Given the description of an element on the screen output the (x, y) to click on. 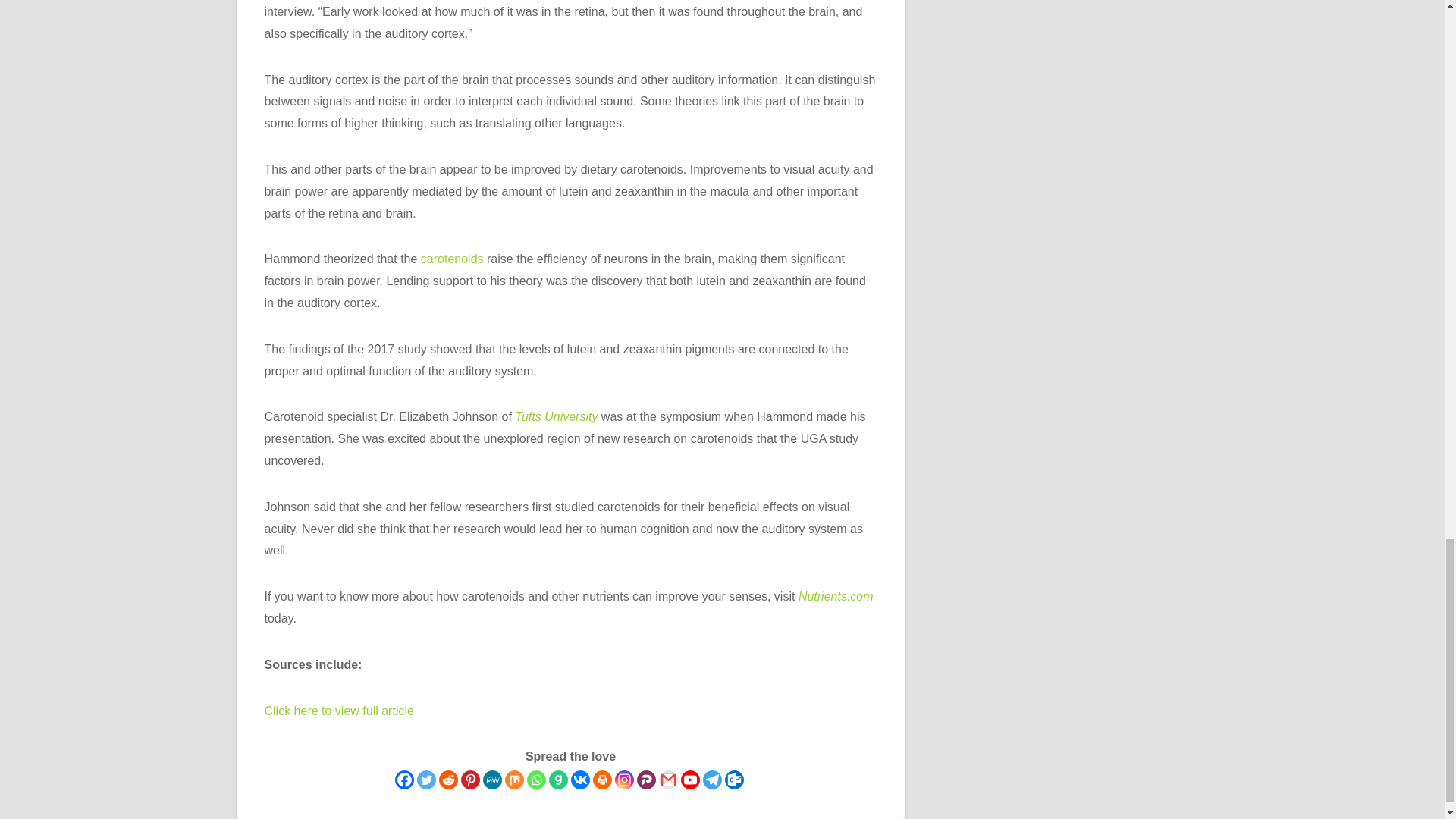
Nutrients.com (835, 595)
Facebook (403, 779)
Parler (646, 779)
Mix (514, 779)
Tufts University (555, 416)
Vkontakte (579, 779)
MeWe (490, 779)
Gab (557, 779)
Pinterest (470, 779)
Reddit (447, 779)
